Given the description of an element on the screen output the (x, y) to click on. 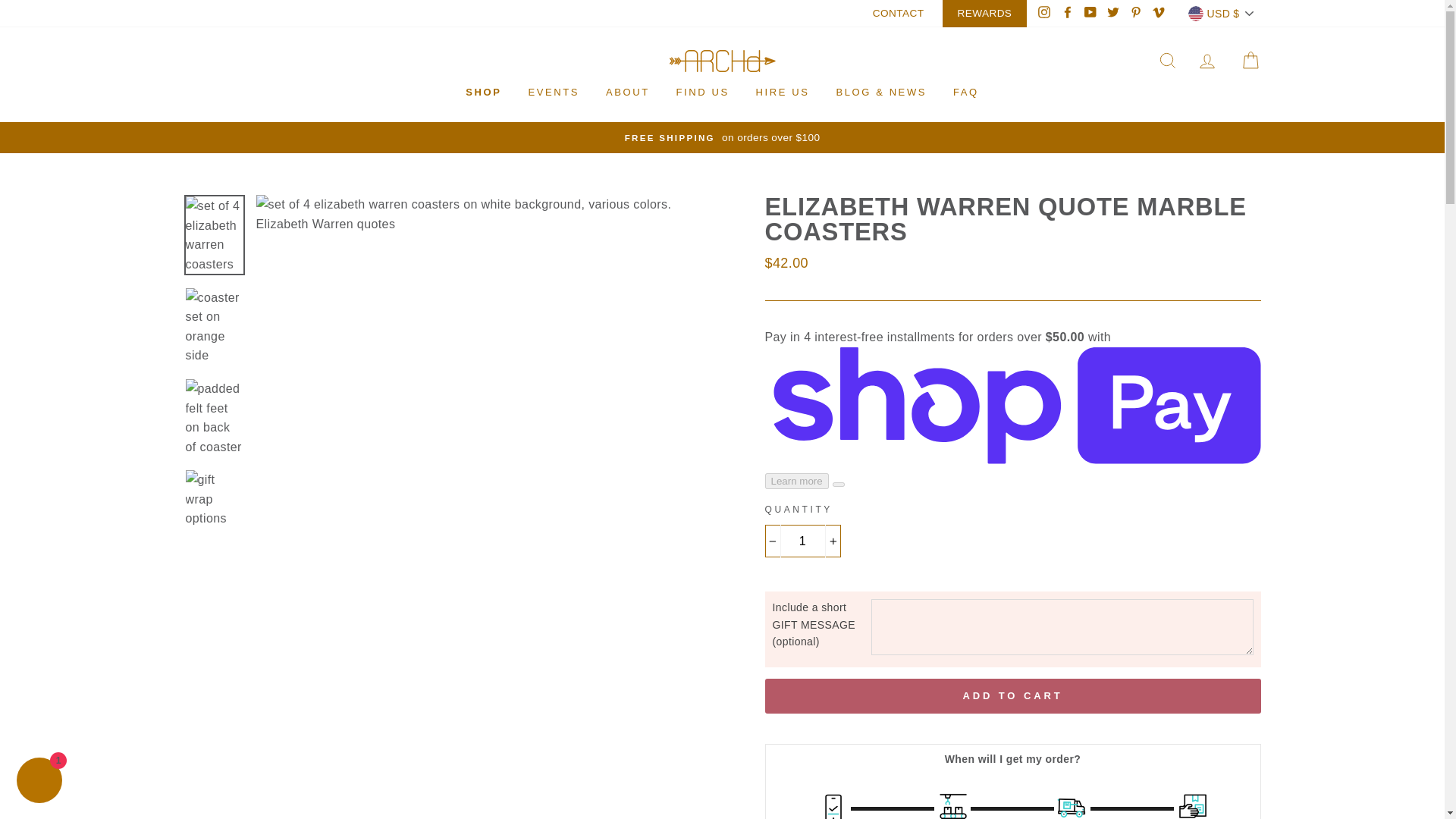
1 (802, 540)
